Given the description of an element on the screen output the (x, y) to click on. 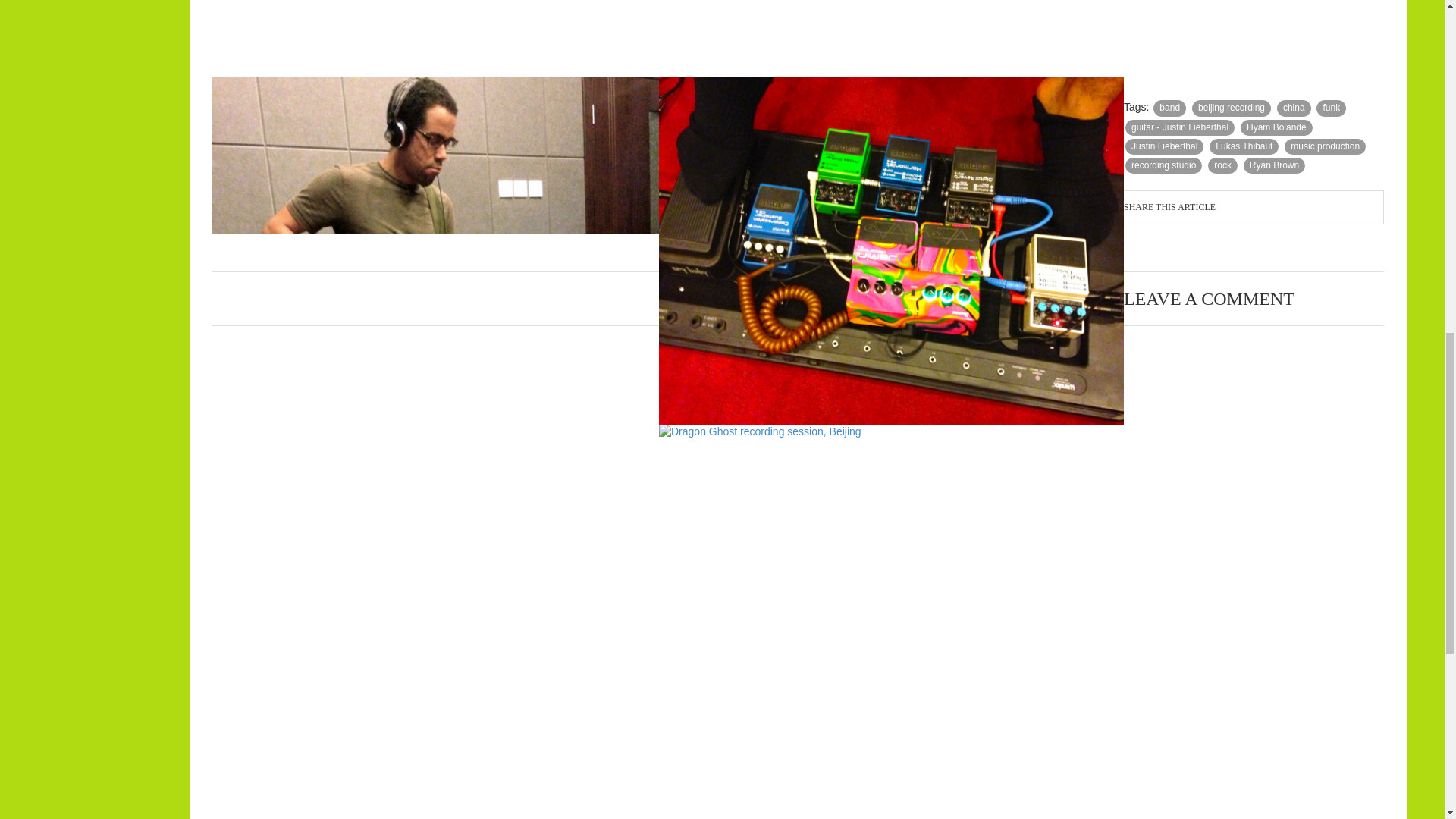
rock (1222, 165)
music production (1324, 146)
beijing recording (1231, 107)
Justin Lieberthal (1164, 146)
funk (1330, 107)
china (1293, 107)
guitar - Justin Lieberthal (1179, 127)
recording studio (1163, 165)
Ryan Brown (1273, 165)
band (1169, 107)
Hyam Bolande (1276, 127)
Lukas Thibaut (1243, 146)
